Given the description of an element on the screen output the (x, y) to click on. 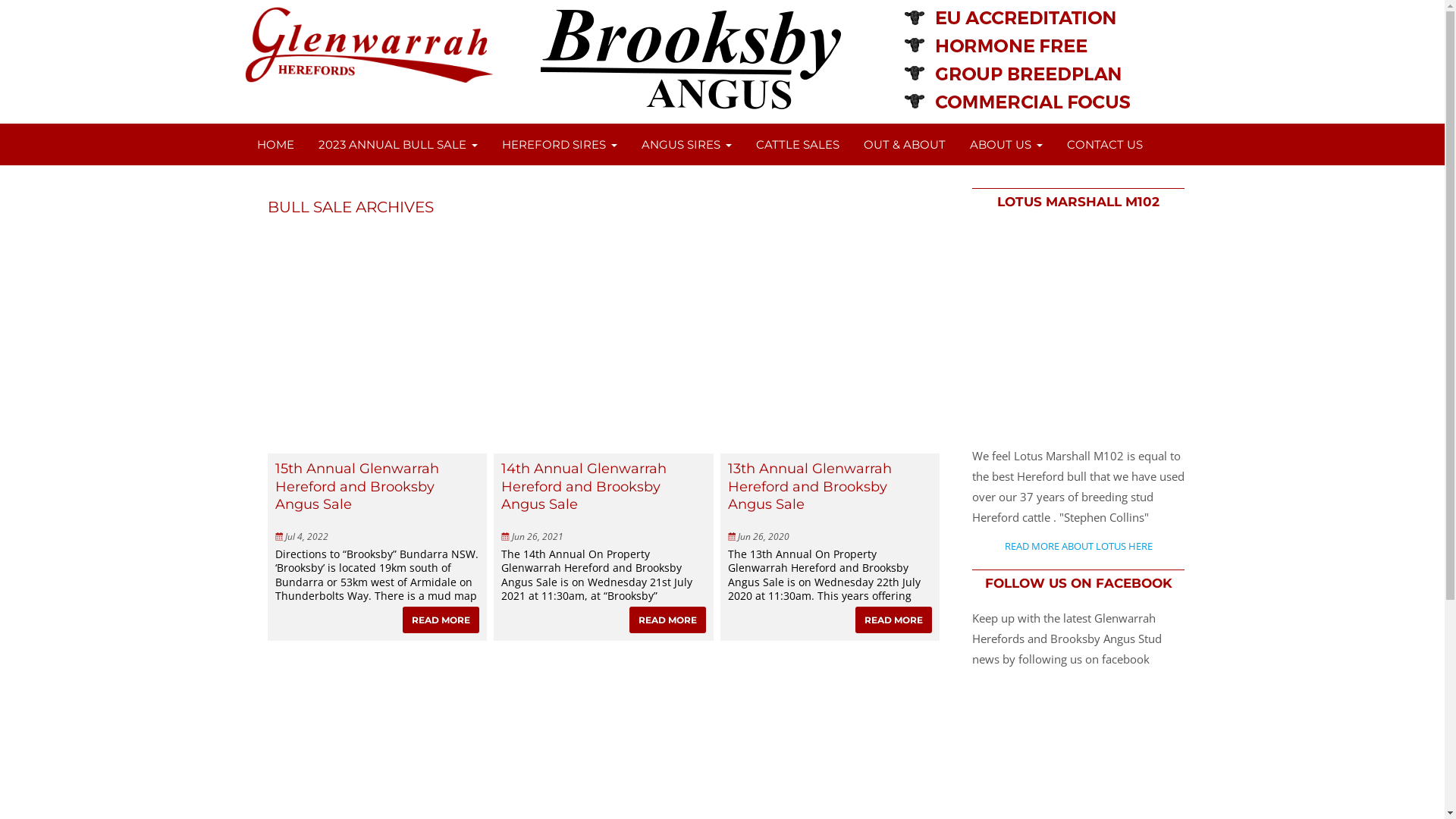
Hereford Bull Lotus Marshall M102 Element type: hover (1078, 333)
READ MORE Element type: text (440, 619)
HEREFORD SIRES Element type: text (559, 144)
READ MORE Element type: text (893, 619)
READ MORE Element type: text (667, 619)
HOME Element type: text (274, 144)
READ MORE ABOUT LOTUS HERE Element type: text (1078, 546)
13th Annual Glenwarrah Hereford and Brooksby Angus Sale Element type: text (830, 487)
CATTLE SALES Element type: text (796, 144)
ANGUS SIRES Element type: text (686, 144)
2023 ANNUAL BULL SALE Element type: text (397, 144)
OUT & ABOUT Element type: text (903, 144)
15th Annual Glenwarrah Hereford and Brooksby Angus Sale Element type: text (376, 487)
Glenwarrah Herefords & Brooksby Angus Element type: hover (368, 82)
CONTACT US Element type: text (1104, 144)
ABOUT US Element type: text (1005, 144)
14th Annual Glenwarrah Hereford and Brooksby Angus Sale Element type: text (603, 487)
